Given the description of an element on the screen output the (x, y) to click on. 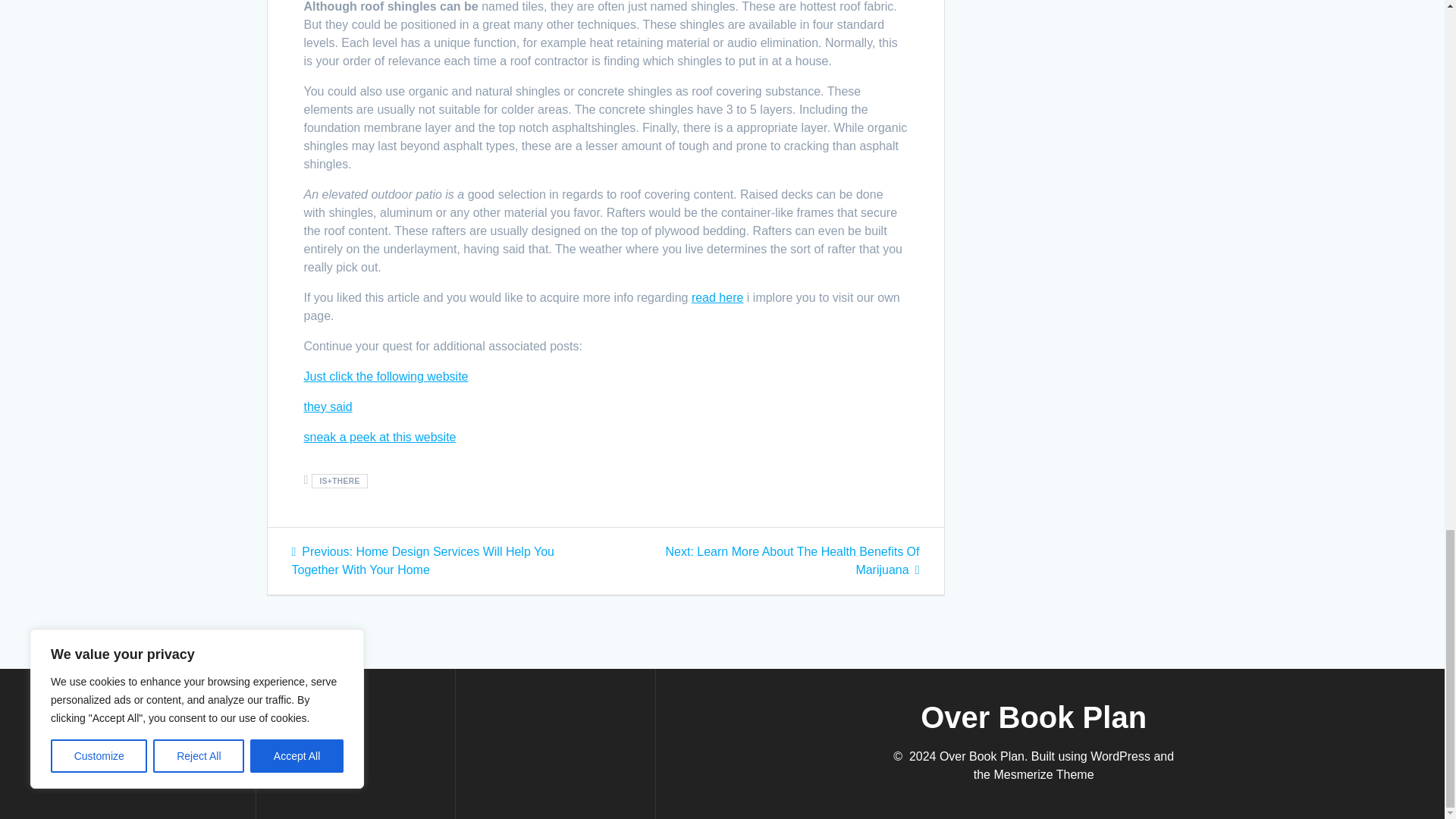
Just click the following website (384, 376)
read here (717, 297)
sneak a peek at this website (378, 436)
they said (327, 406)
